Given the description of an element on the screen output the (x, y) to click on. 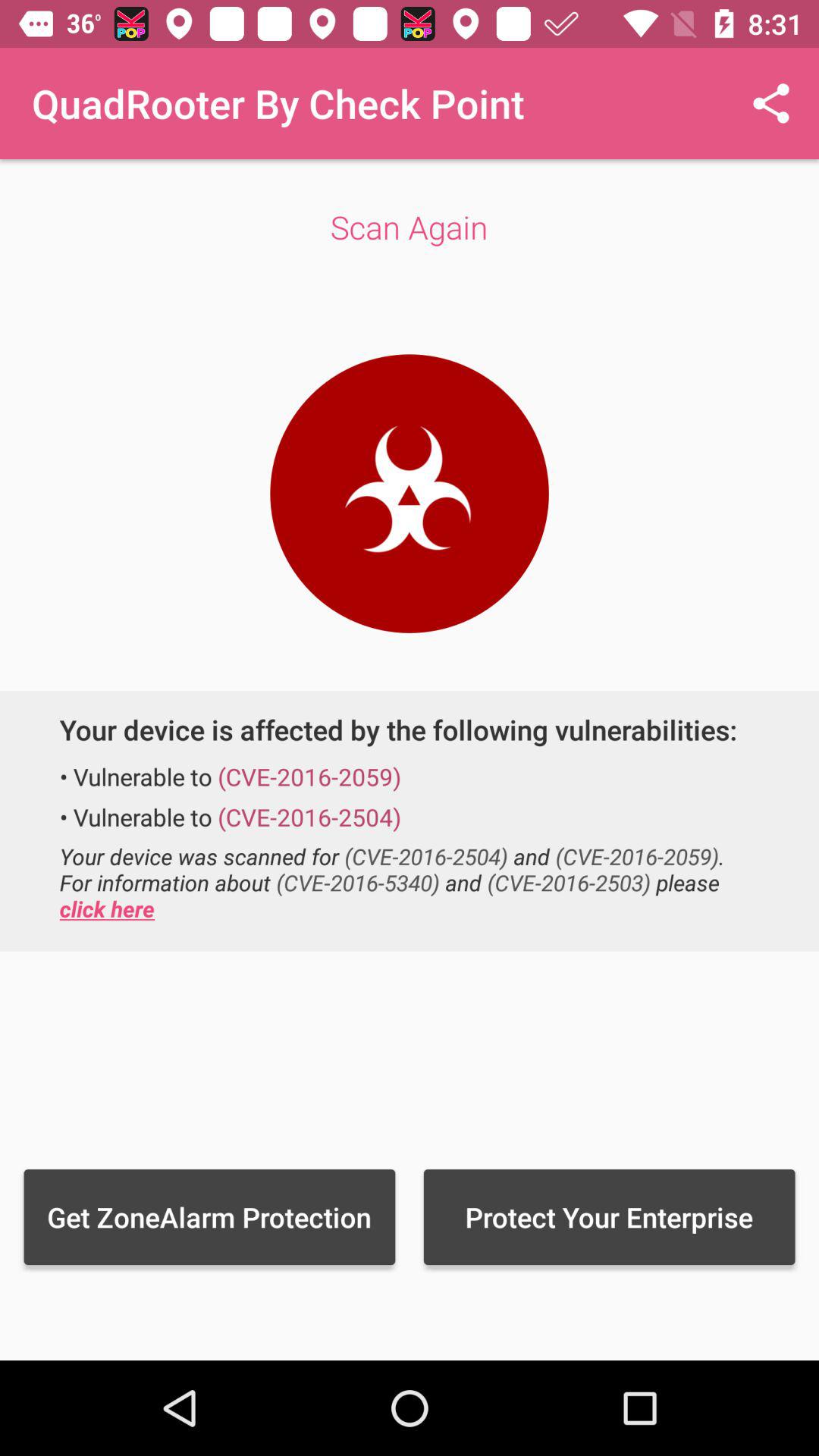
select the item next to the protect your enterprise item (209, 1216)
